Given the description of an element on the screen output the (x, y) to click on. 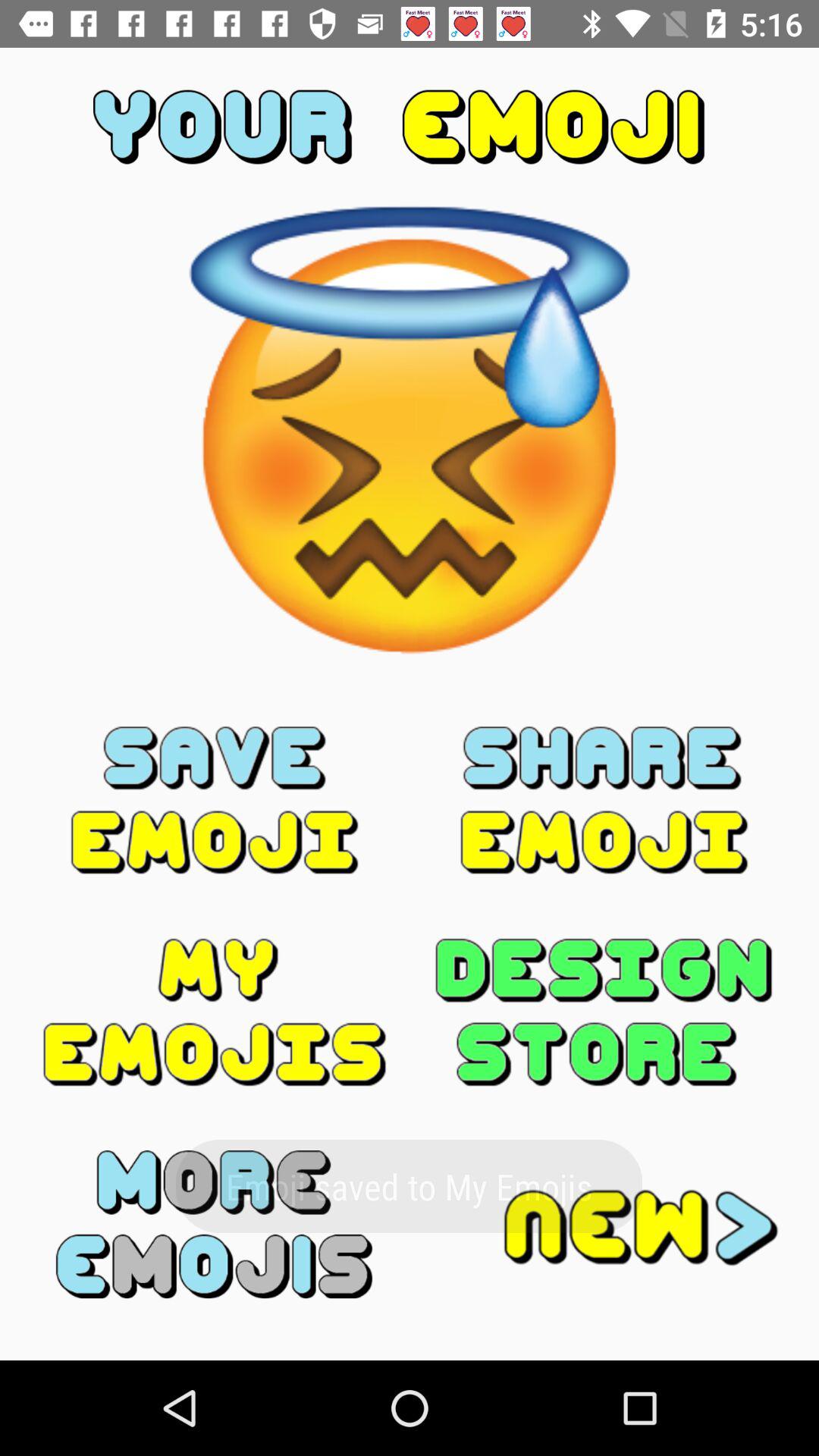
share the emoji (604, 800)
